Given the description of an element on the screen output the (x, y) to click on. 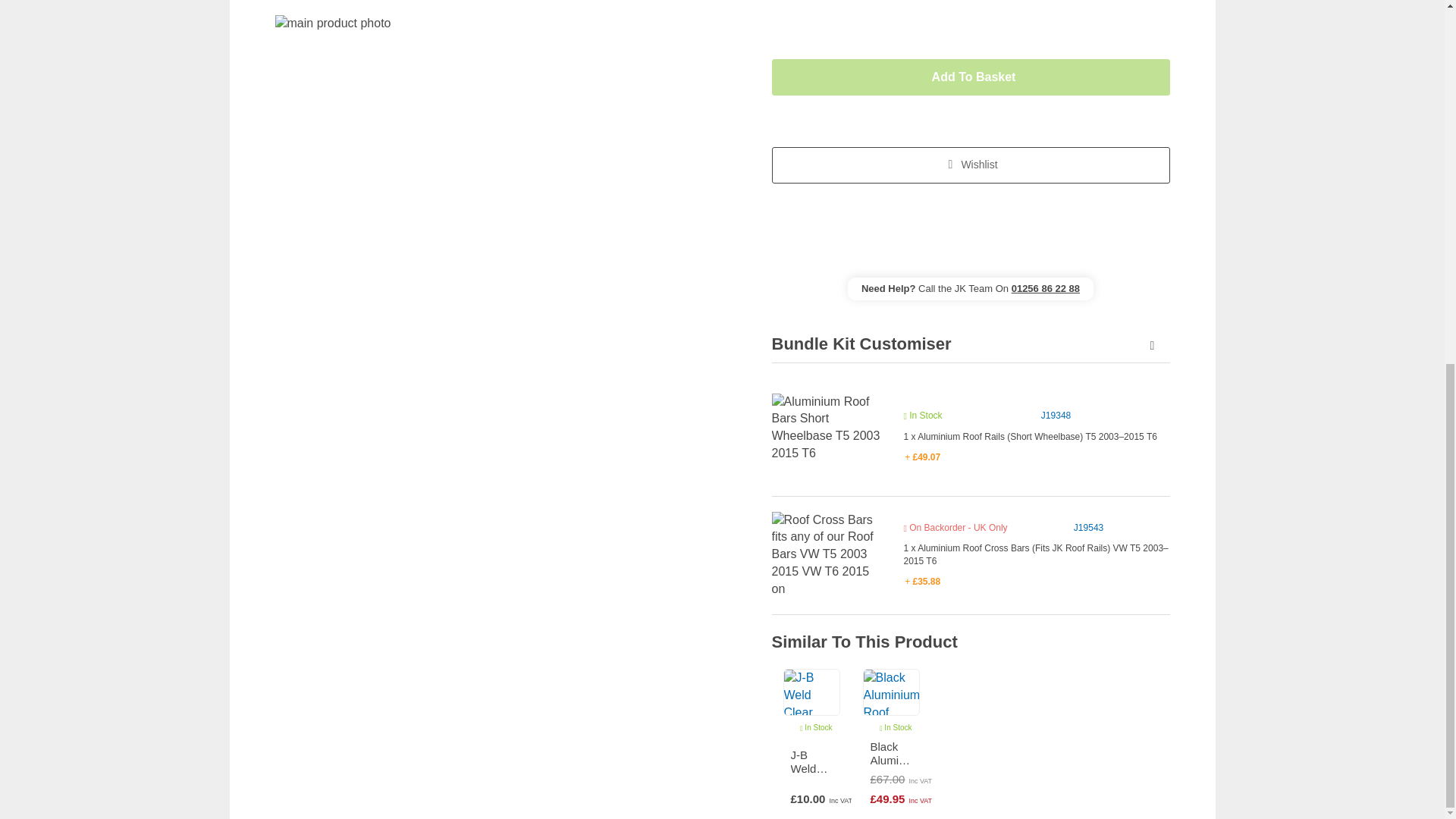
Availability (815, 727)
Availability (955, 527)
J-B Weld Clear Silicone and Adhesive 85g (810, 761)
Add to Basket (970, 76)
Availability (923, 415)
